Given the description of an element on the screen output the (x, y) to click on. 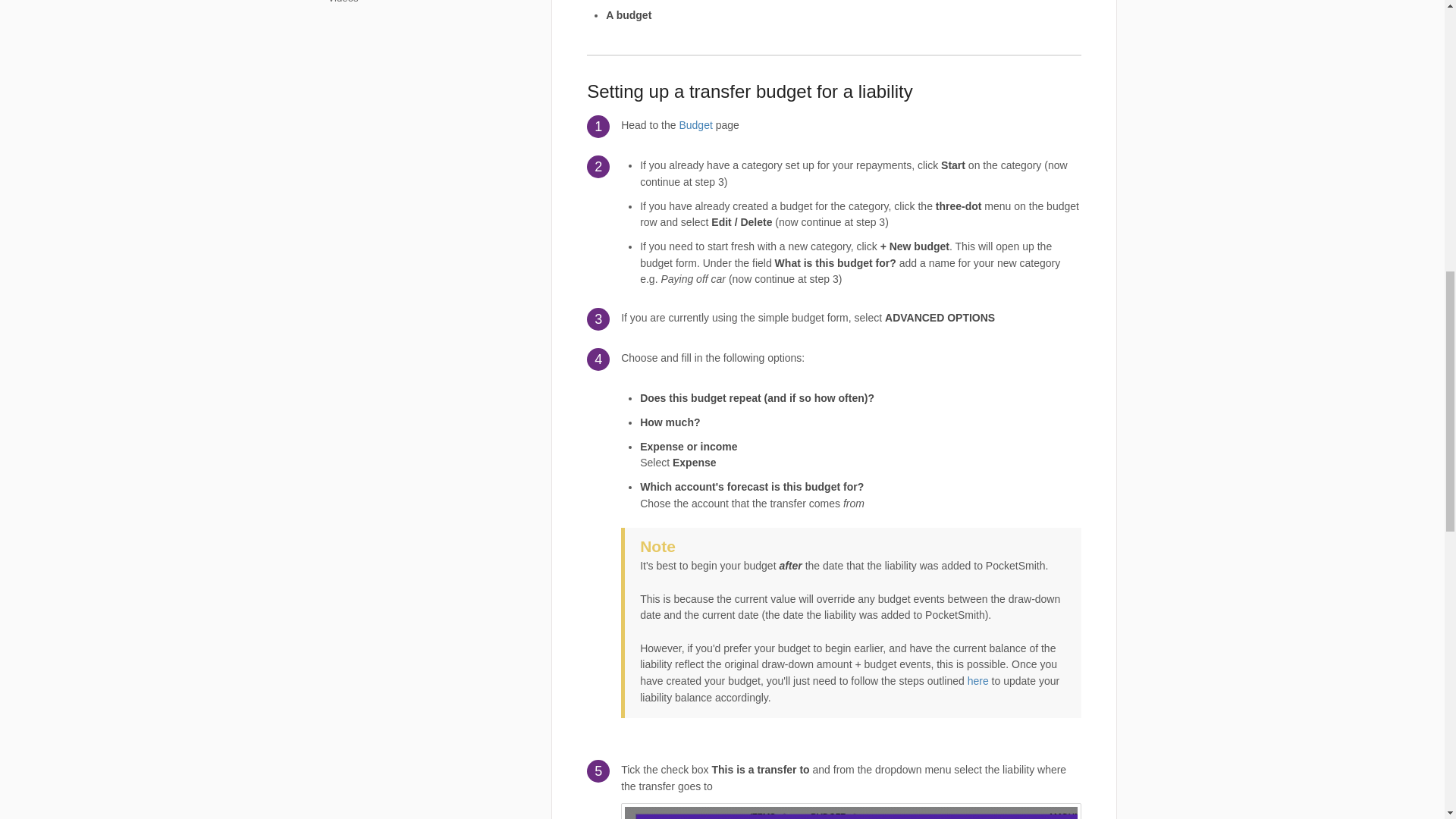
here (978, 680)
Budget (694, 124)
